Given the description of an element on the screen output the (x, y) to click on. 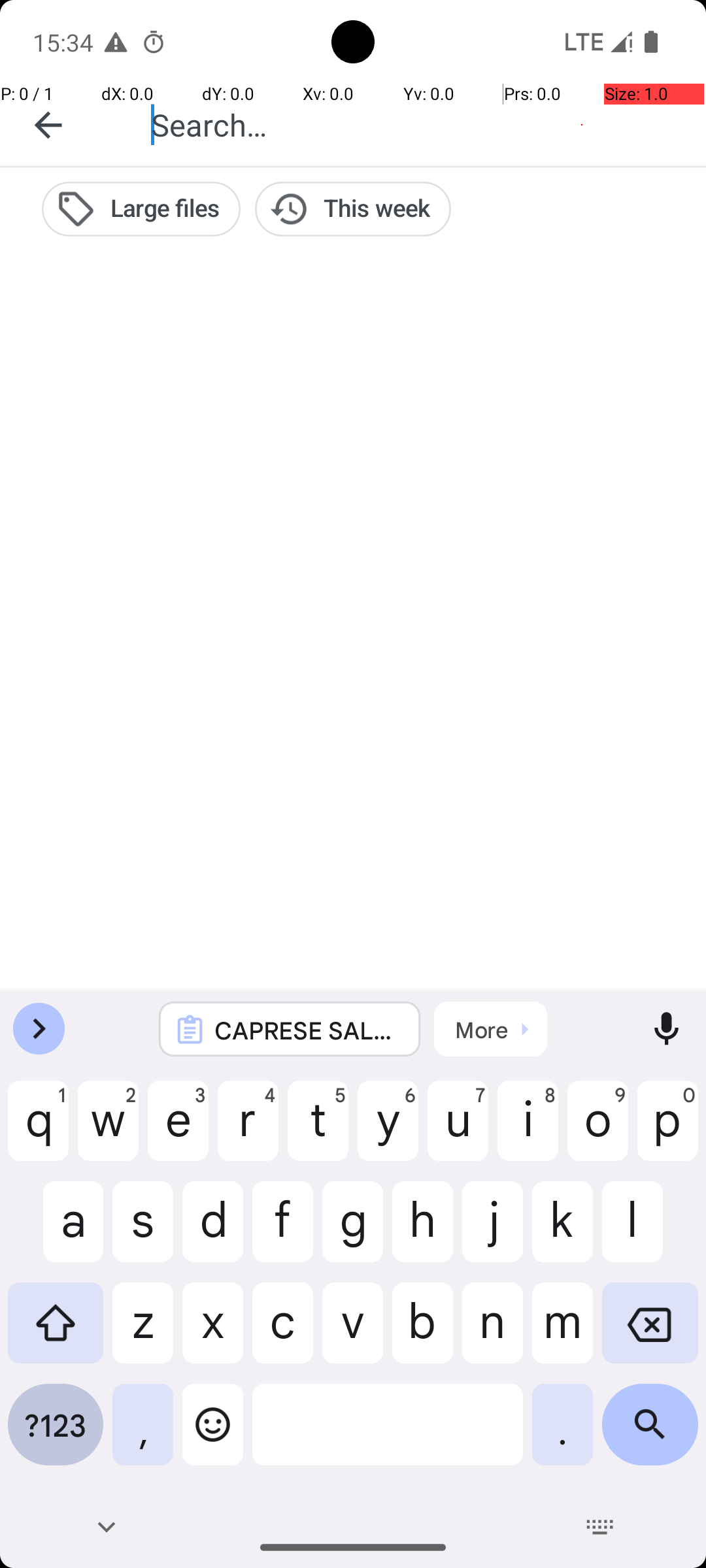
CAPRESE SALAD SKEWERS  Servings: 1 serving Time: 45 mins  A quick and easy meal, perfect for busy weekdays.  Ingredients: - n/a  Directions: 1. Thread cherry tomatoes, basil leaves, and mozzarella balls onto skewers. Drizzle with balsamic glaze. Feel free to substitute with ingredients you have on hand.  Shared with https://play.google.com/store/apps/details?id=com.flauschcode.broccoli Element type: android.widget.TextView (306, 1029)
